Given the description of an element on the screen output the (x, y) to click on. 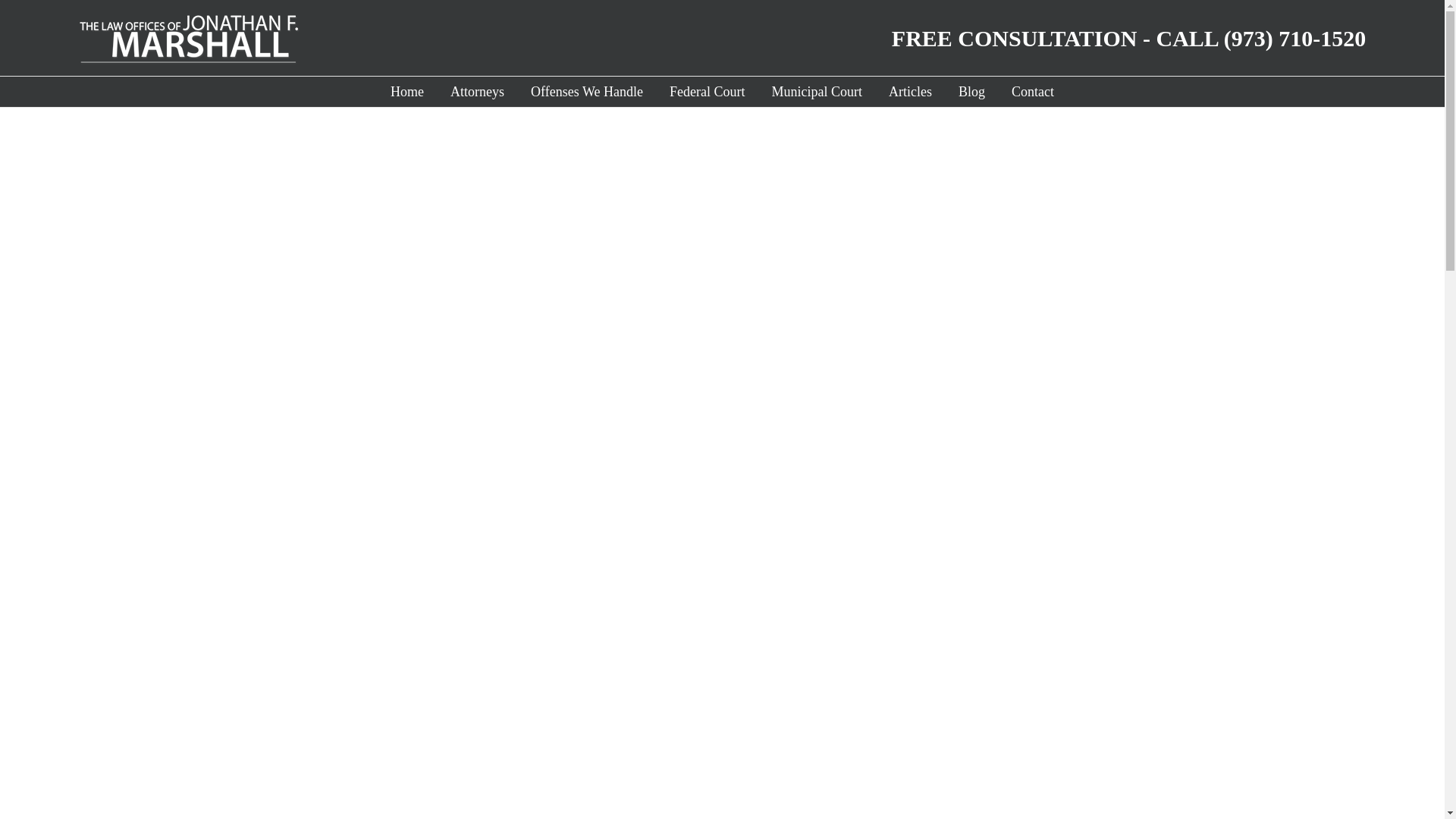
Municipal Court (816, 91)
Federal Court (706, 91)
Contact (1032, 91)
Home (406, 91)
Offenses We Handle (587, 91)
Articles (909, 91)
Attorneys (476, 91)
